Given the description of an element on the screen output the (x, y) to click on. 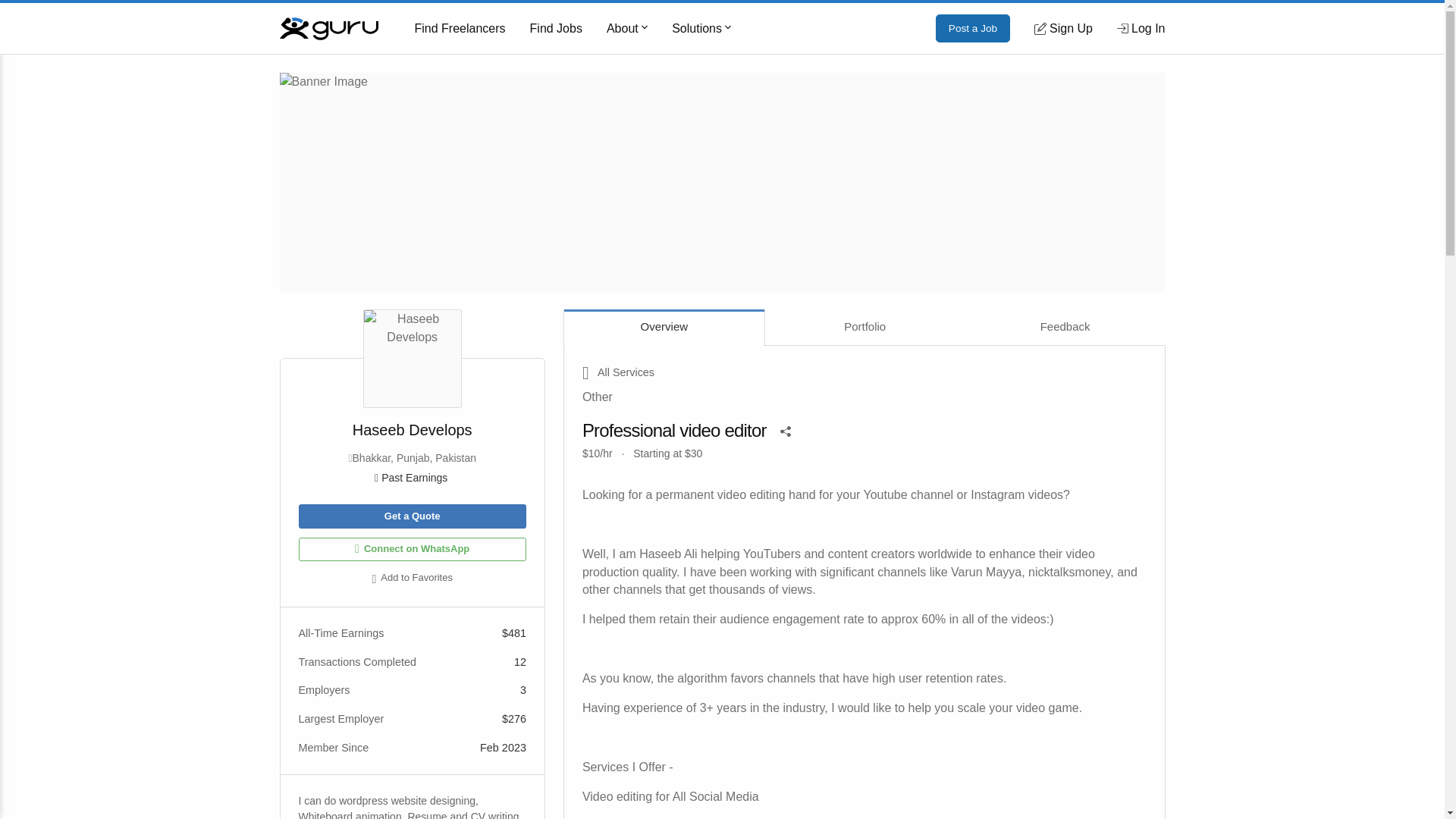
Find a Freelancer (459, 28)
Find Freelancers (459, 28)
Sign Up (1063, 28)
Log In (1140, 28)
Connect on WhatsApp (411, 549)
Find Jobs (555, 28)
Earnings in last 12 months (411, 477)
Add to Favorites (411, 579)
Post a Job (973, 28)
Guru (328, 27)
